Given the description of an element on the screen output the (x, y) to click on. 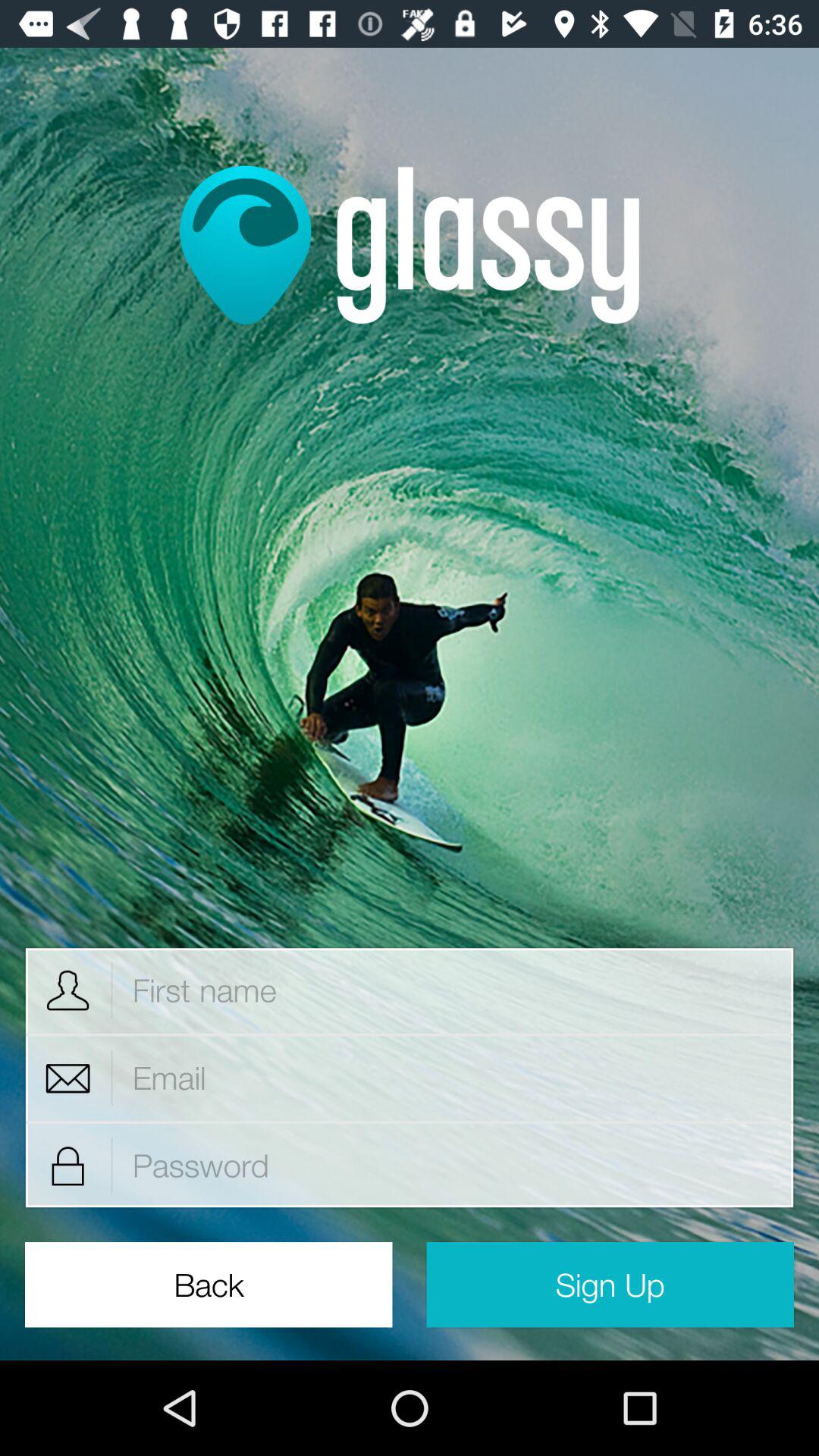
enter email (453, 1077)
